Given the description of an element on the screen output the (x, y) to click on. 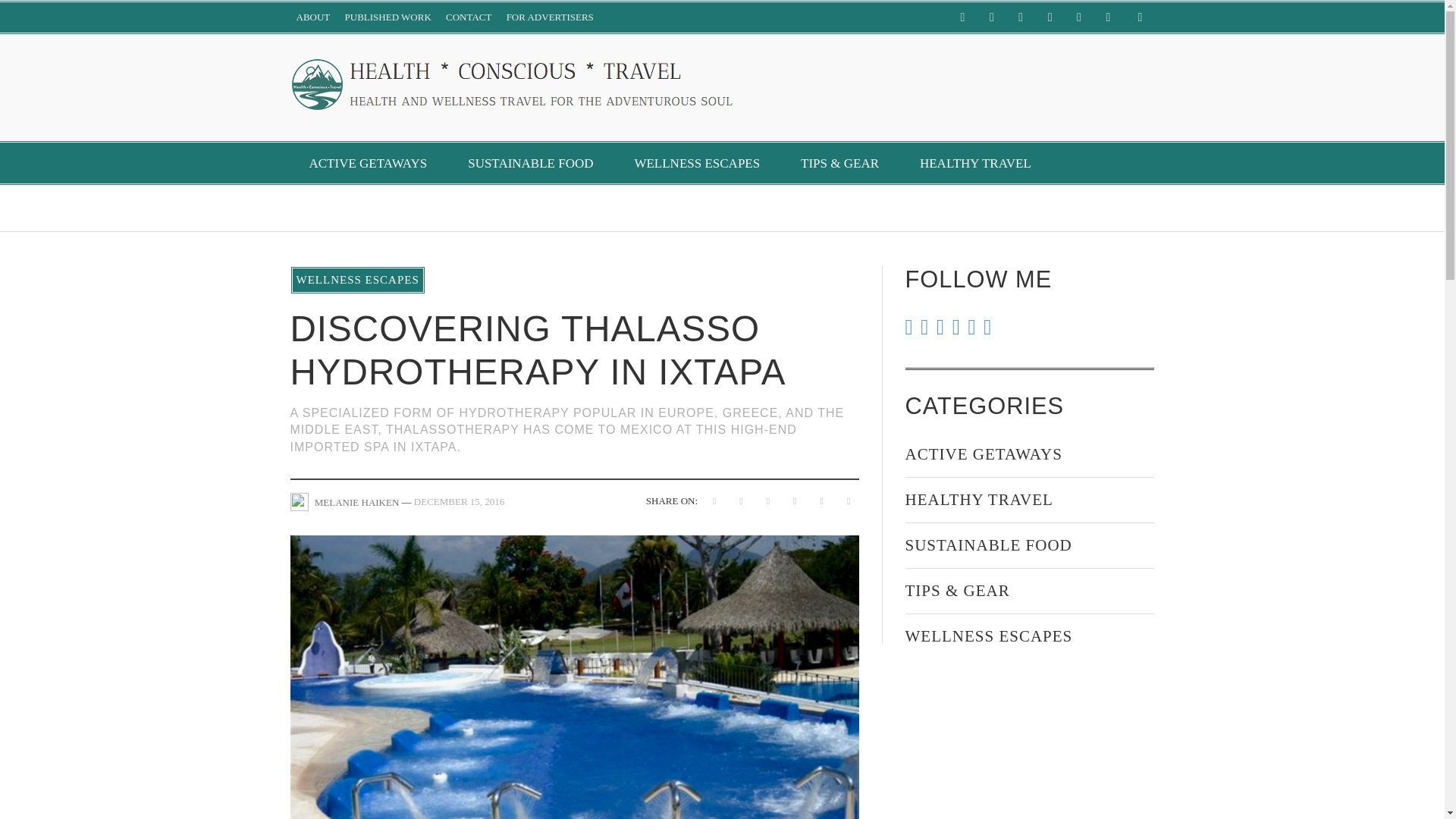
Instagram (1020, 17)
Facebook (961, 17)
WELLNESS ESCAPES (696, 163)
ABOUT (312, 17)
ACTIVE GETAWAYS (367, 163)
CONTACT (468, 17)
FOR ADVERTISERS (549, 17)
PUBLISHED WORK (388, 17)
LinkedIn (1049, 17)
Pinterest (1078, 17)
SUSTAINABLE FOOD (529, 163)
Twitter (1107, 17)
